Given the description of an element on the screen output the (x, y) to click on. 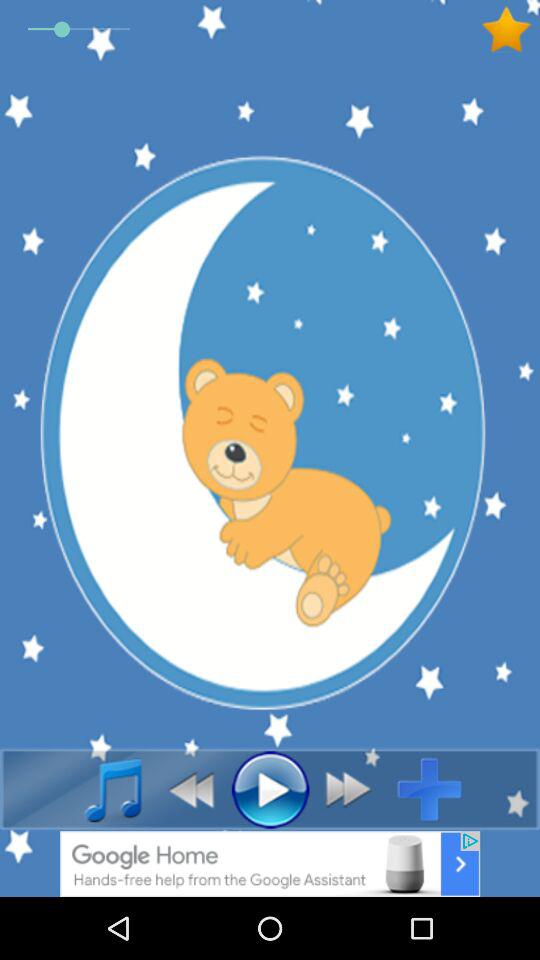
go to music button (102, 789)
